Given the description of an element on the screen output the (x, y) to click on. 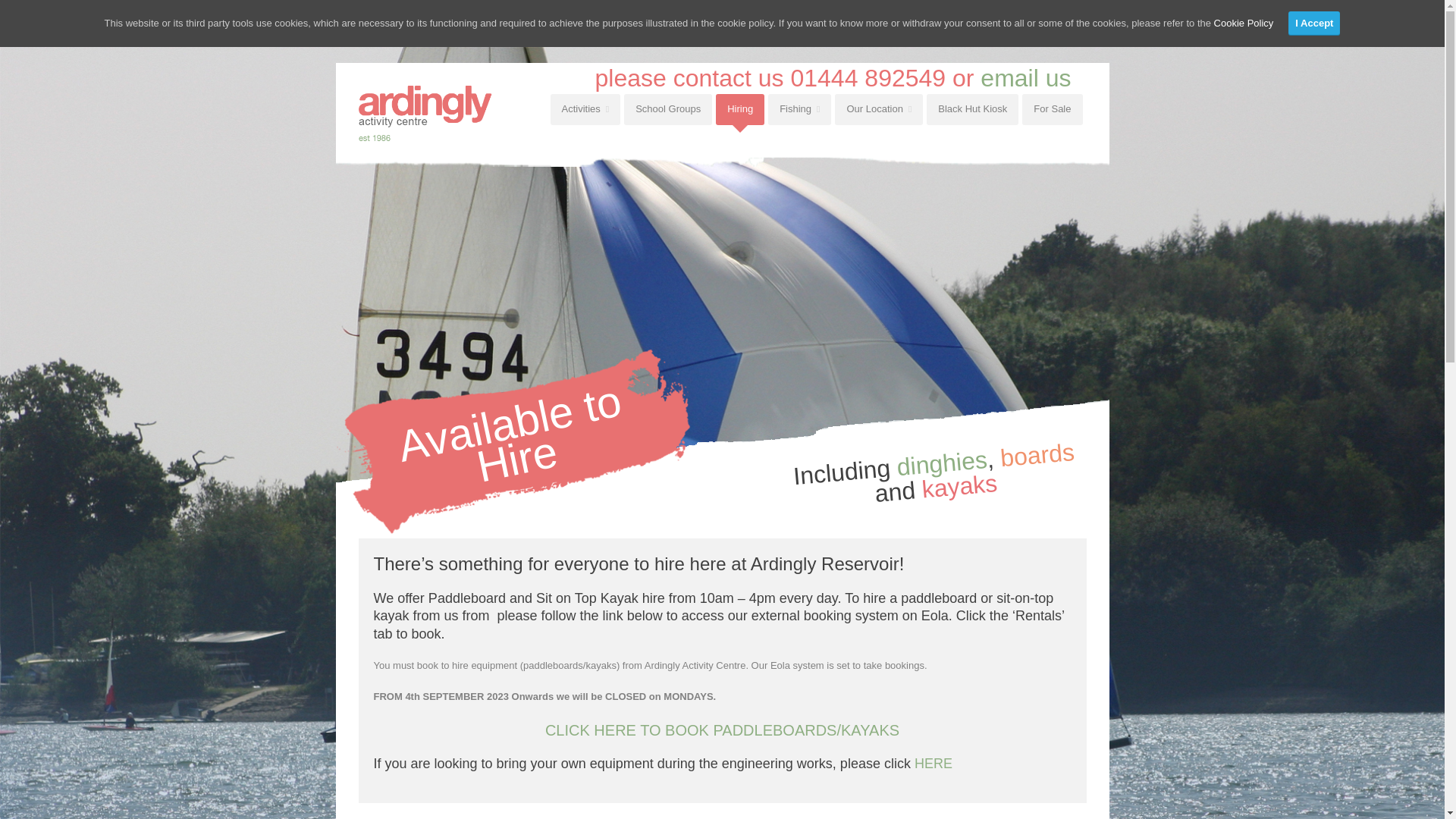
For Sale (1051, 109)
email us (1024, 77)
Hiring (740, 109)
Activities (585, 109)
Fishing (799, 109)
Black Hut Kiosk (971, 109)
School Groups (667, 109)
Our Location (878, 109)
